Given the description of an element on the screen output the (x, y) to click on. 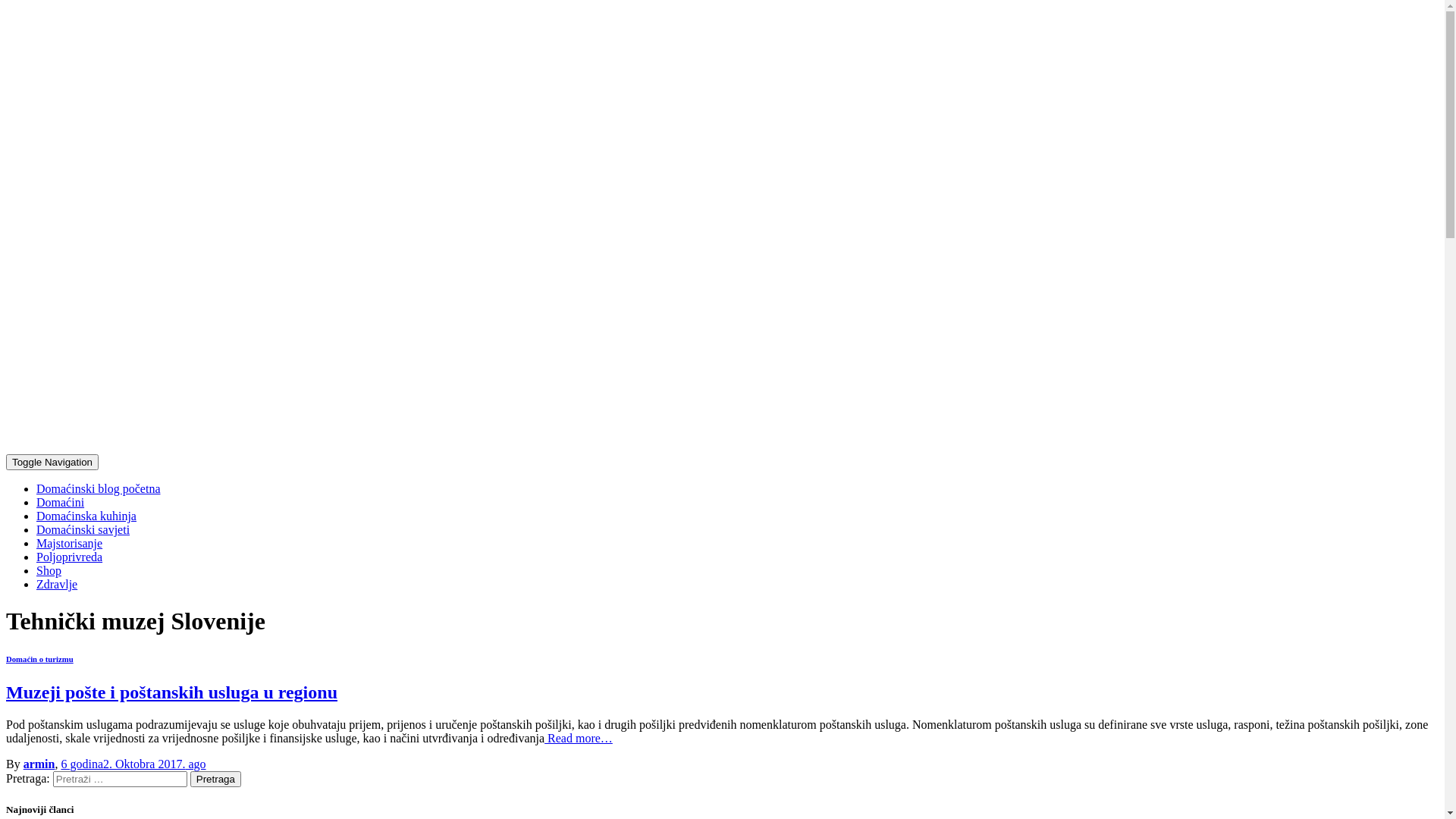
Pretraga Element type: text (215, 779)
Shop Element type: text (48, 570)
Zdravlje Element type: text (56, 583)
domacin.ba Element type: hover (240, 446)
Majstorisanje Element type: text (69, 542)
Toggle Navigation Element type: text (52, 462)
armin Element type: text (39, 763)
6 godina2. Oktobra 2017. ago Element type: text (132, 763)
Poljoprivreda Element type: text (69, 556)
